Given the description of an element on the screen output the (x, y) to click on. 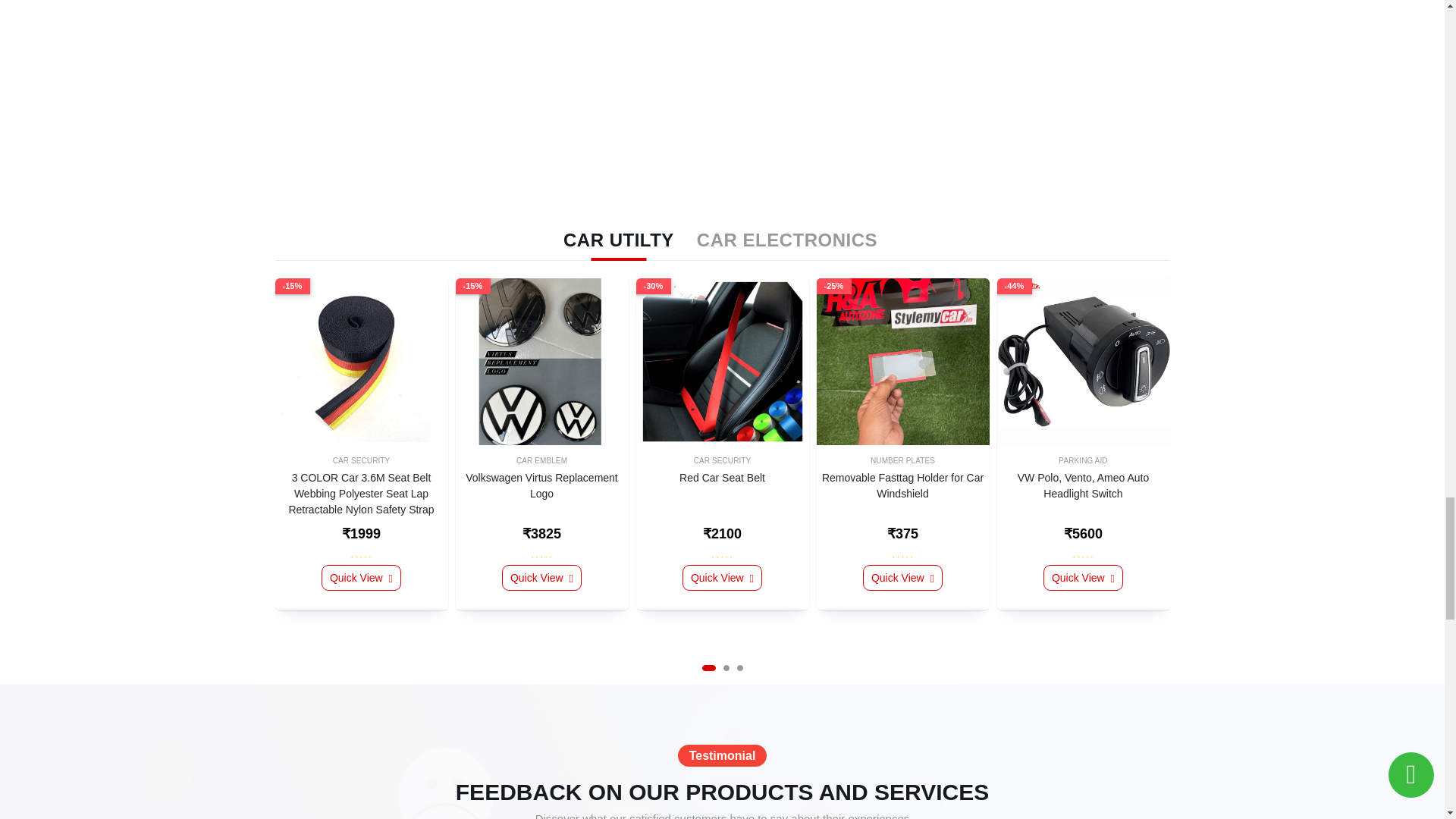
button (708, 667)
button (725, 667)
button (738, 667)
